Given the description of an element on the screen output the (x, y) to click on. 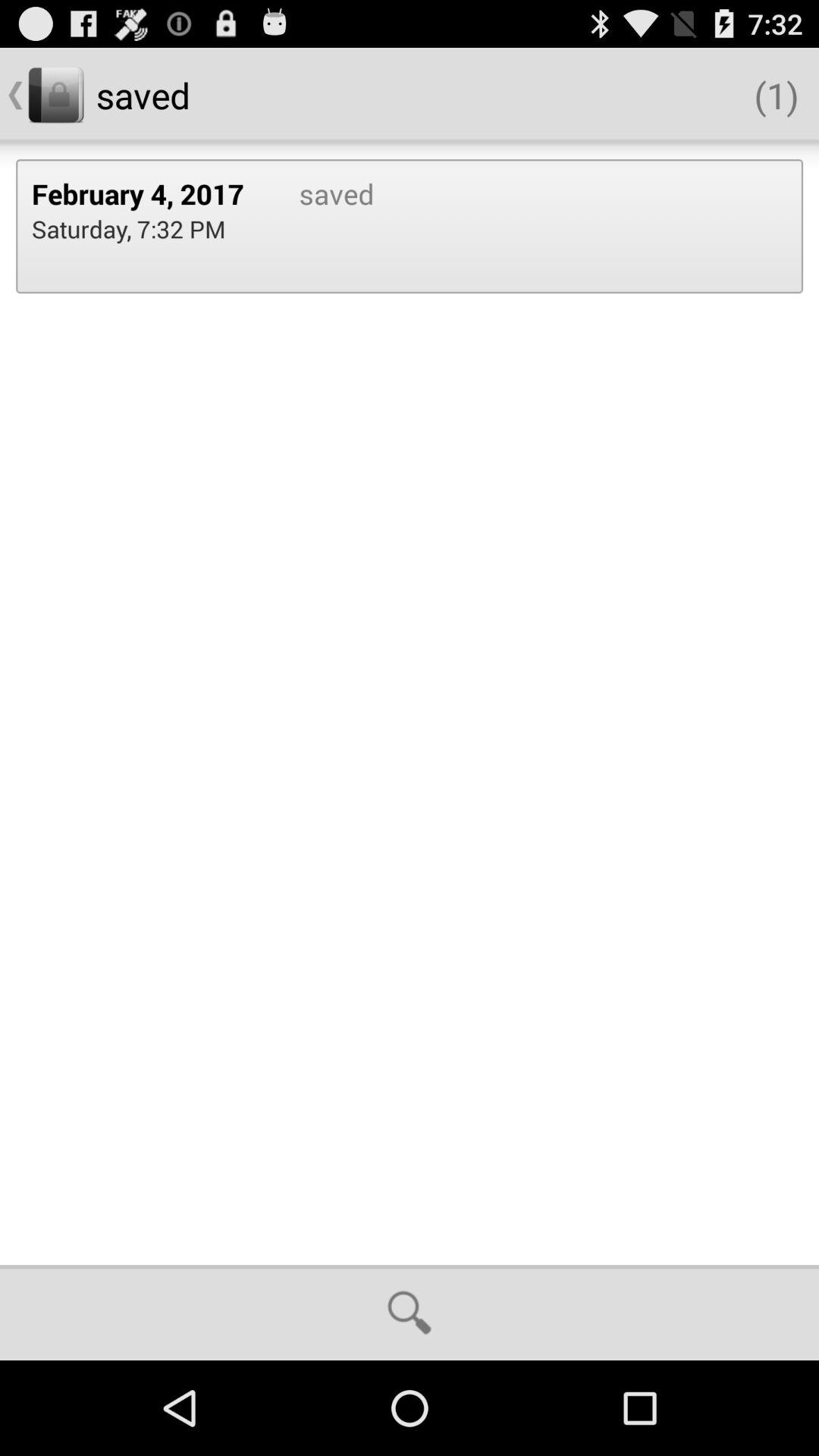
flip to the february 4, 2017 item (149, 193)
